Given the description of an element on the screen output the (x, y) to click on. 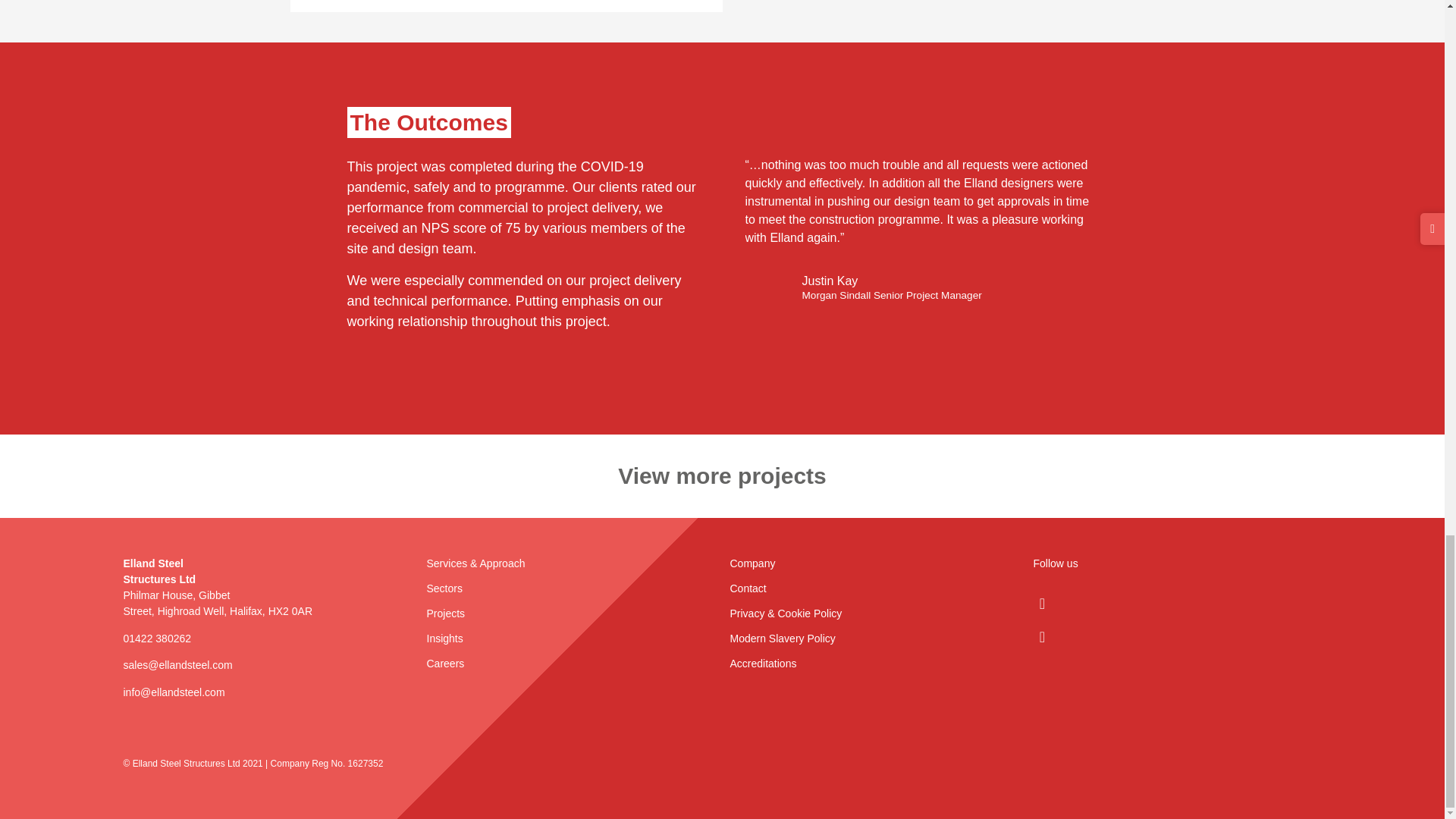
Accreditations (762, 663)
View more projects (722, 475)
Insights (444, 638)
Sectors (443, 588)
Modern Slavery Policy (781, 638)
Careers (445, 663)
Contact (747, 588)
01422 380262 (156, 638)
Projects (445, 613)
Company (751, 563)
